Given the description of an element on the screen output the (x, y) to click on. 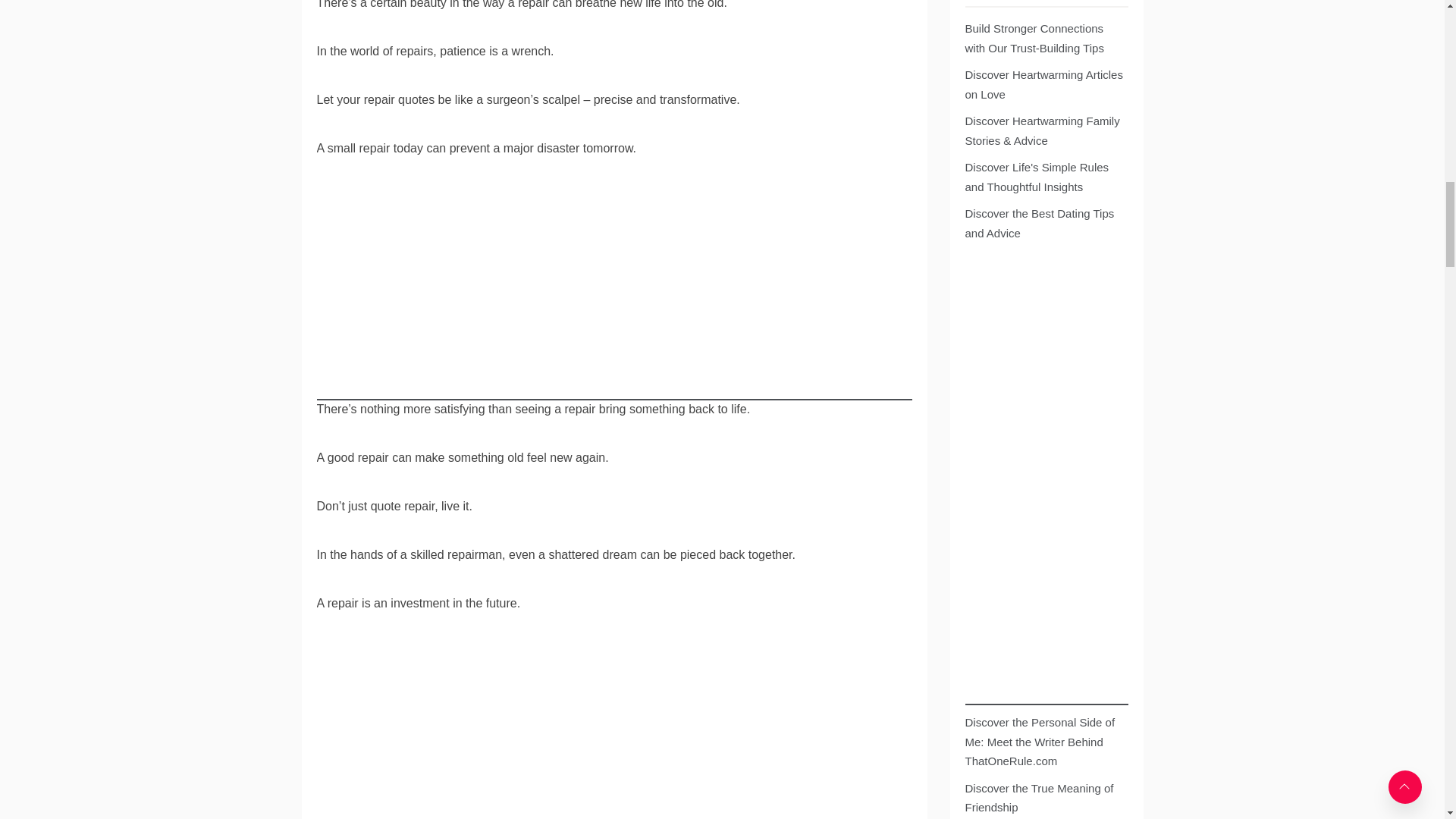
Advertisement (614, 294)
Discover Heartwarming Articles on Love (1043, 84)
Build Stronger Connections with Our Trust-Building Tips (1043, 37)
Discover Life's Simple Rules and Thoughtful Insights (1043, 177)
Advertisement (614, 730)
Discover the True Meaning of Friendship (1043, 797)
Discover the Best Dating Tips and Advice (1043, 222)
